Given the description of an element on the screen output the (x, y) to click on. 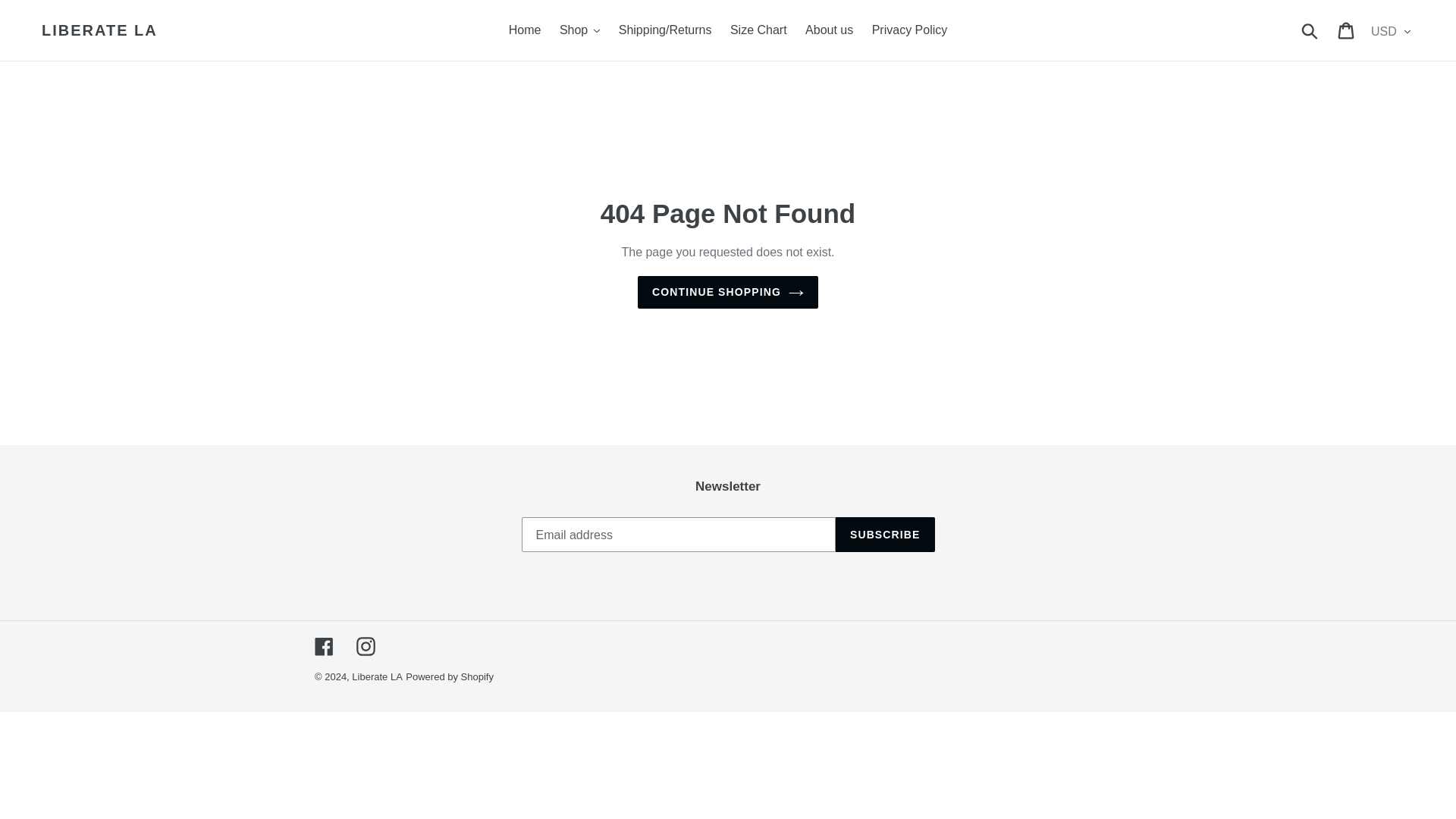
Cart (1347, 29)
CONTINUE SHOPPING (727, 292)
Size Chart (758, 29)
About us (828, 29)
Privacy Policy (909, 29)
Submit (1310, 29)
Home (524, 29)
SUBSCRIBE (884, 534)
LIBERATE LA (99, 30)
